Given the description of an element on the screen output the (x, y) to click on. 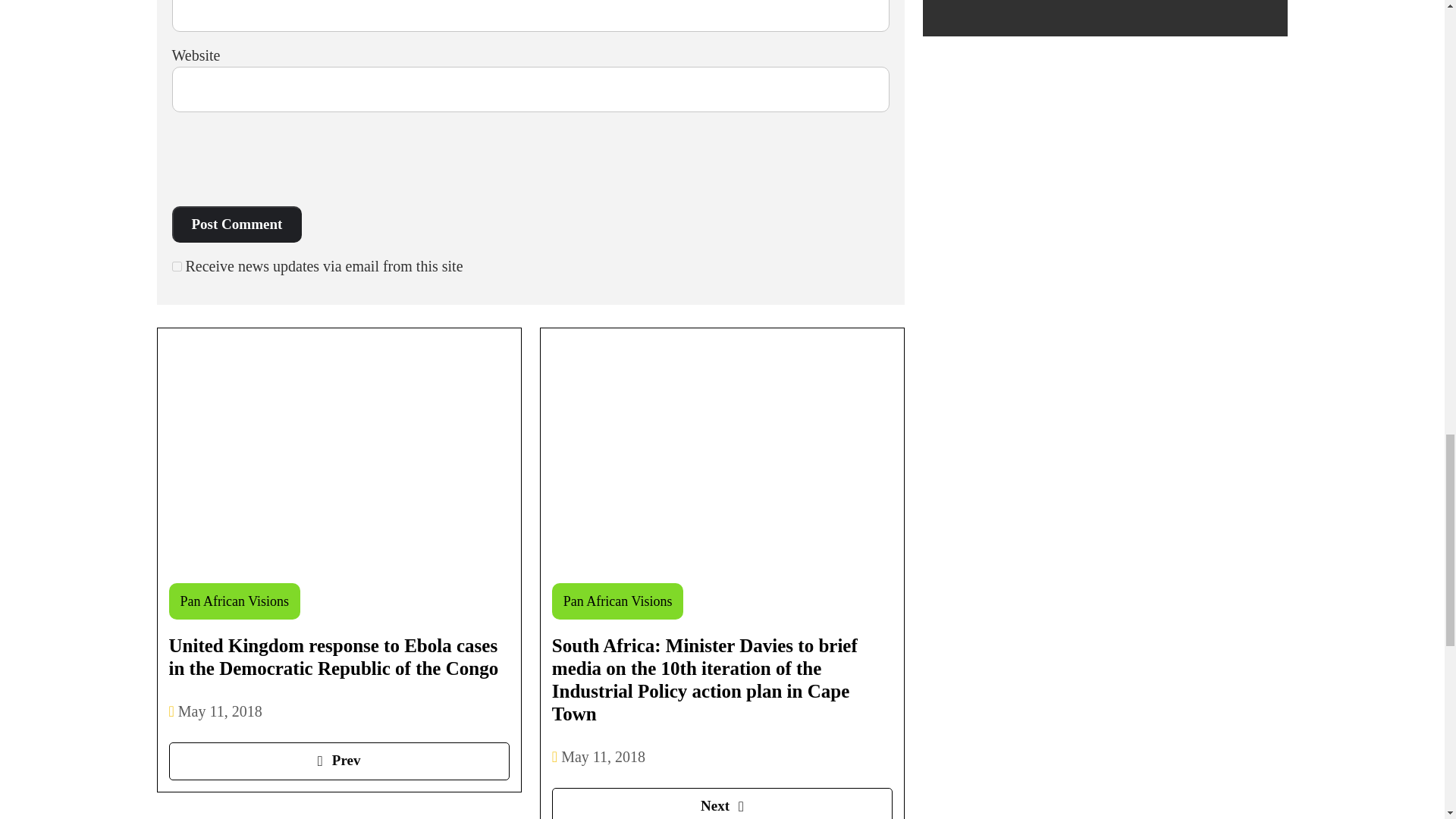
Post Comment (236, 224)
reCAPTCHA (286, 160)
1 (175, 266)
